Given the description of an element on the screen output the (x, y) to click on. 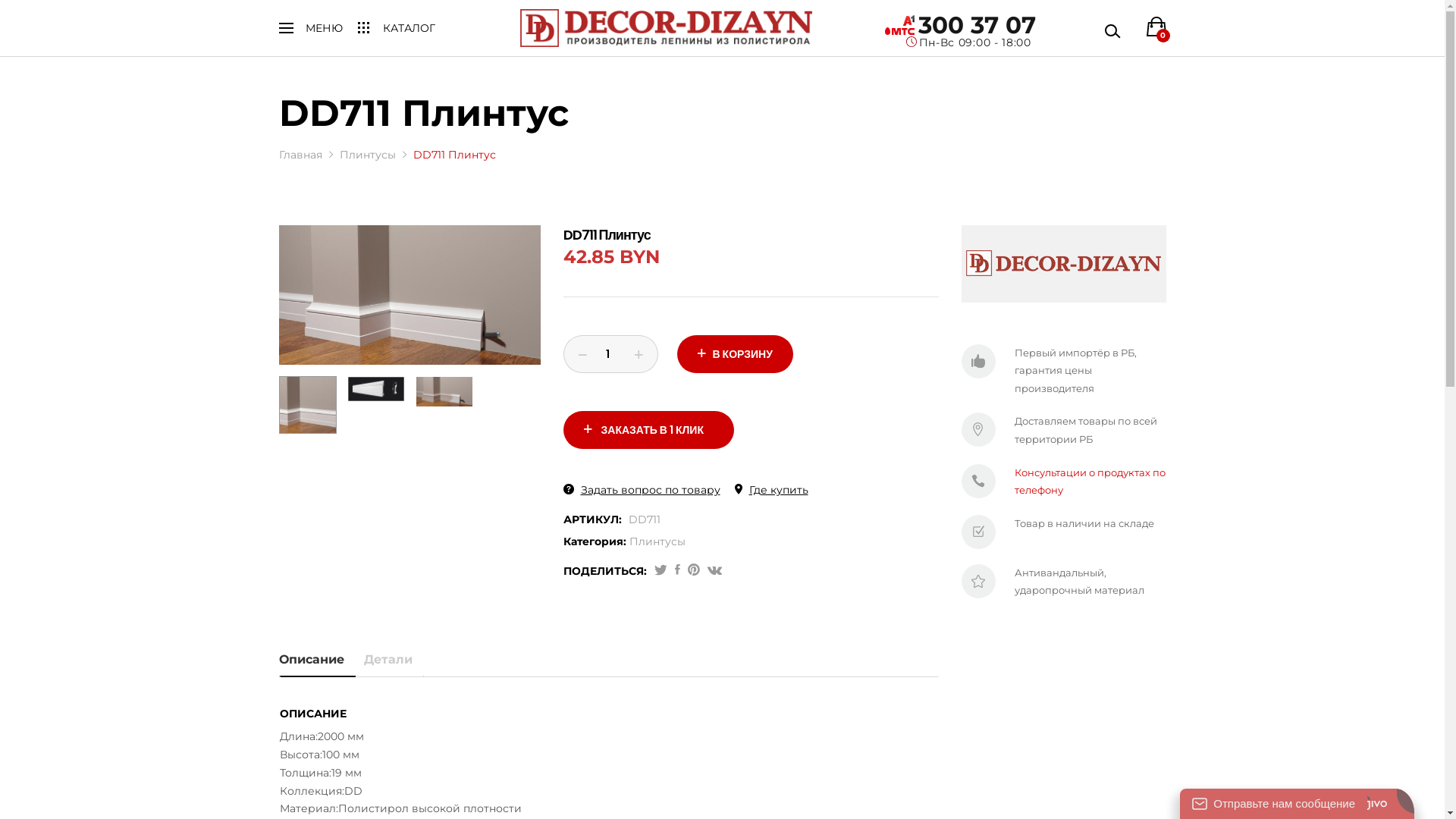
dd711_color Element type: hover (444, 391)
dd711 Element type: hover (375, 389)
DD711+%D0%9F%D0%BB%D0%B8%D0%BD%D1%82%D1%83%D1%81 Element type: hover (714, 570)
300 37 07 Element type: text (976, 24)
DD711+%D0%9F%D0%BB%D0%B8%D0%BD%D1%82%D1%83%D1%81 Element type: hover (660, 570)
DD711+%D0%9F%D0%BB%D0%B8%D0%BD%D1%82%D1%83%D1%81 Element type: hover (693, 570)
Qty Element type: hover (609, 354)
0 Element type: text (1156, 26)
